Given the description of an element on the screen output the (x, y) to click on. 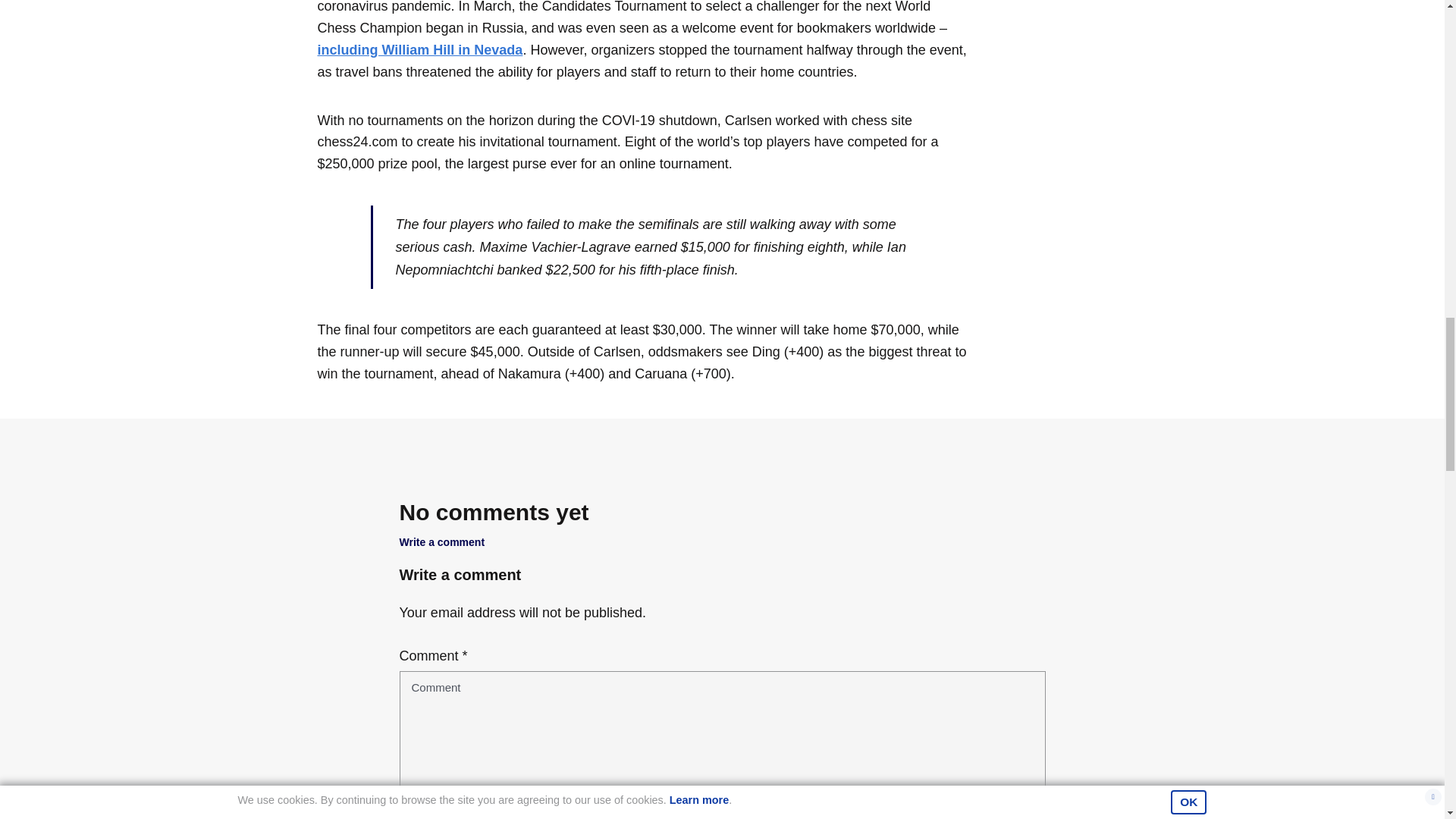
including William Hill in Nevada (419, 49)
